Given the description of an element on the screen output the (x, y) to click on. 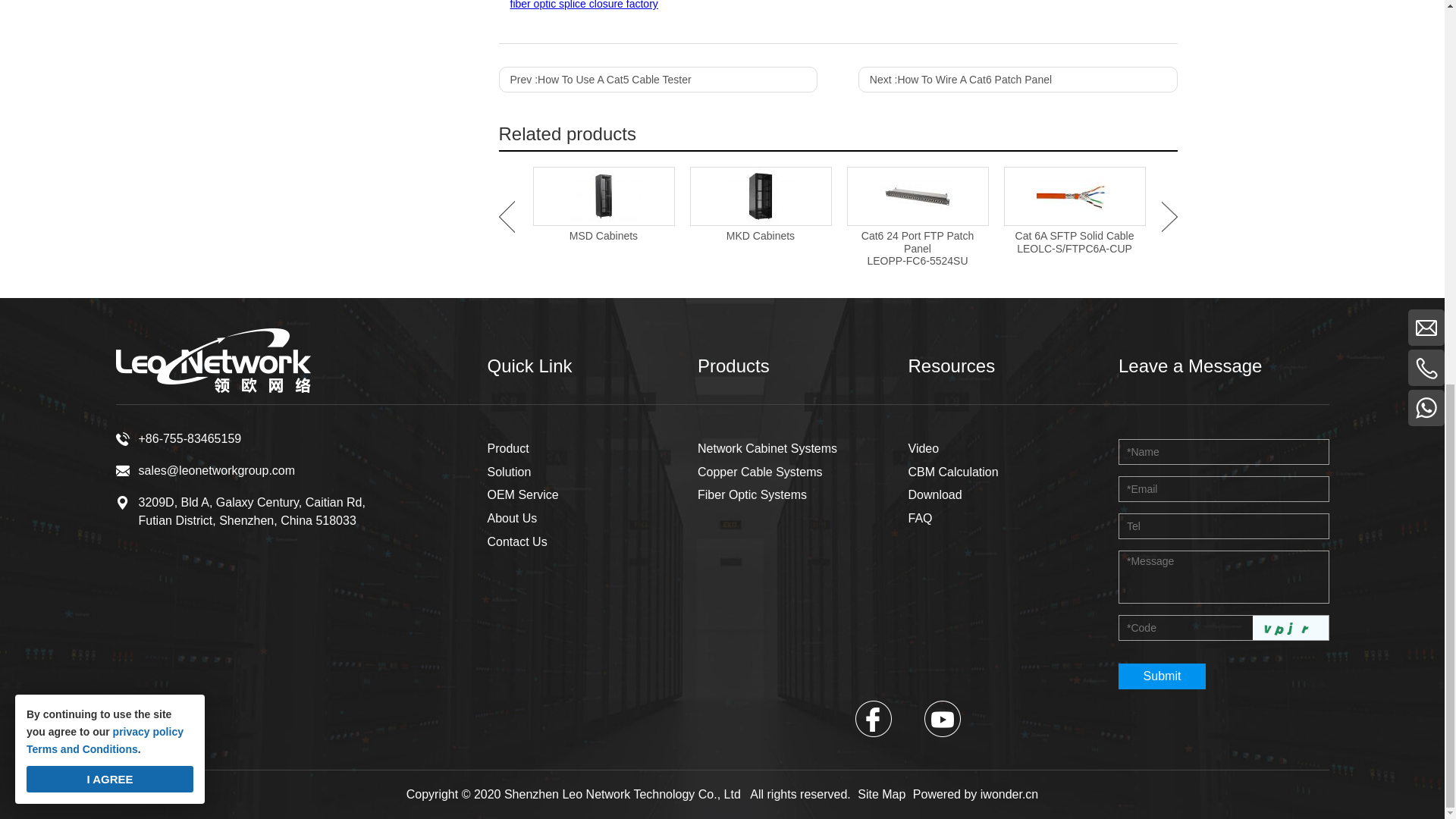
MSD Cabinets (604, 196)
MKD Cabinets (759, 196)
Submit (1161, 676)
